Given the description of an element on the screen output the (x, y) to click on. 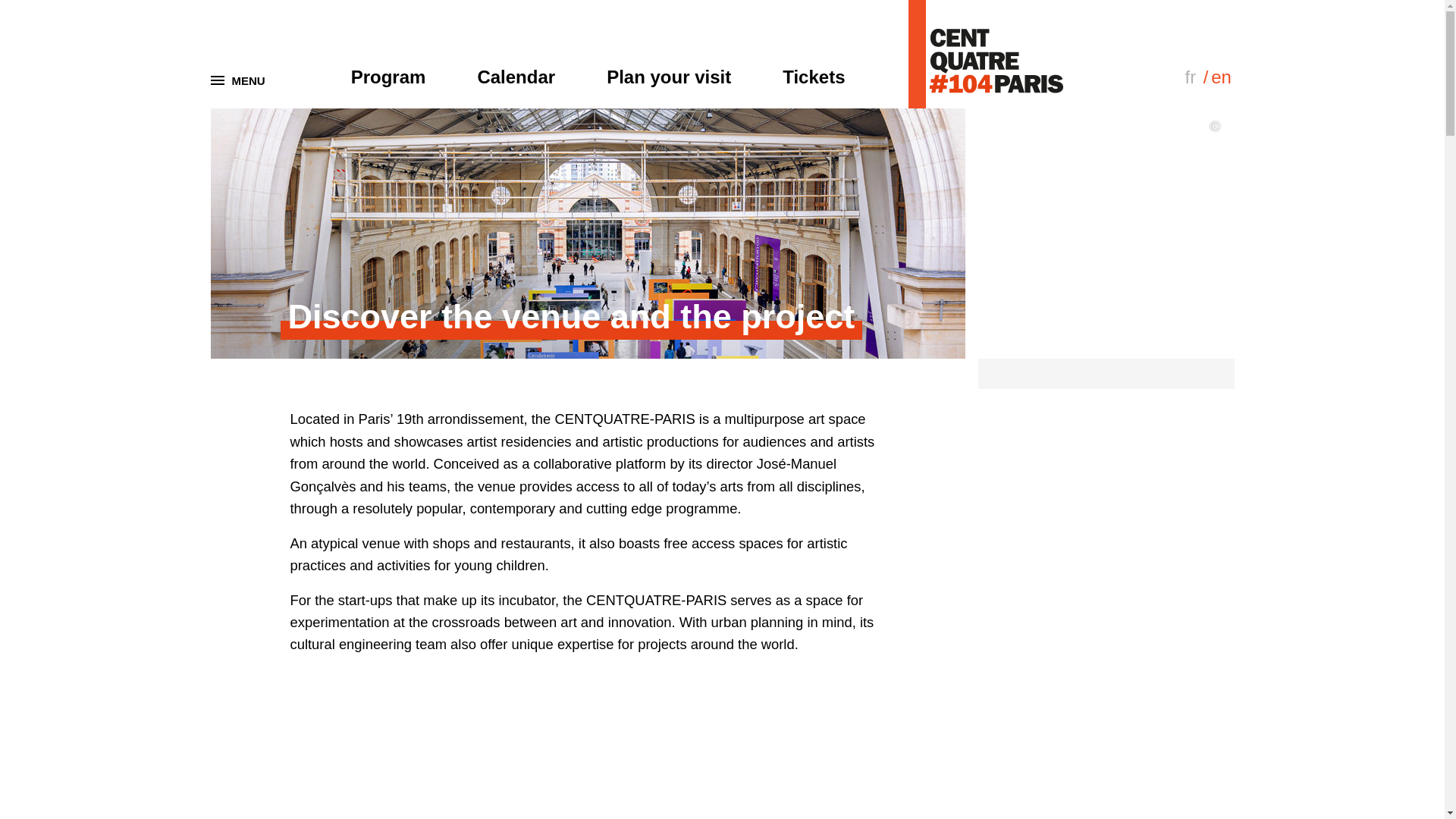
Calendar (515, 77)
Tickets (813, 77)
WHAT IS THE CENTQUATRE-PARIS? (595, 754)
Program (388, 77)
Plan your visit (668, 77)
MENU (240, 79)
